Given the description of an element on the screen output the (x, y) to click on. 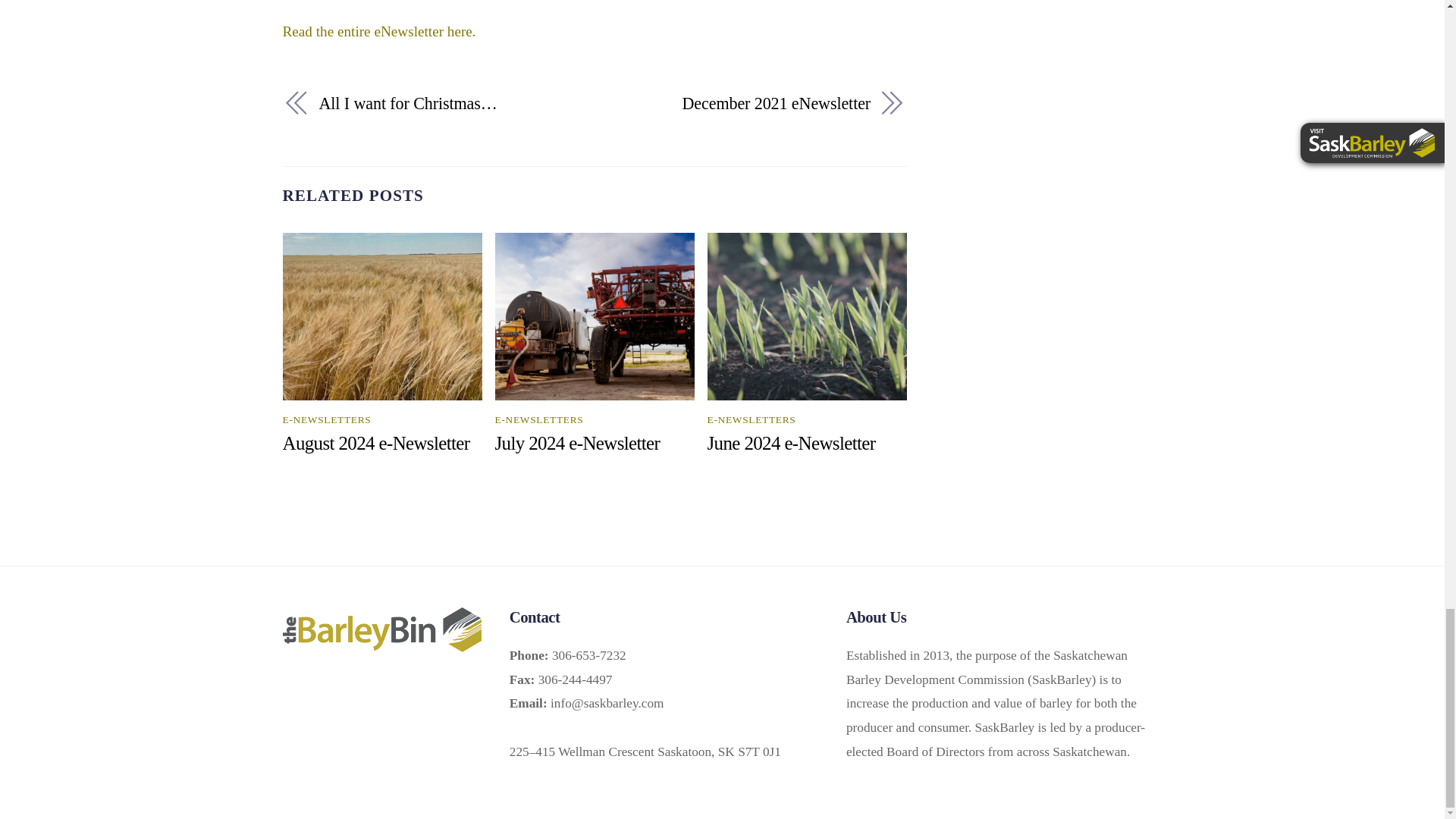
June 2024 e-Newsletter (791, 443)
August 2024 e-Newsletter (375, 443)
E-NEWSLETTERS (751, 419)
August 2024 e-Newsletter (375, 443)
The Barley Bin (381, 642)
E-NEWSLETTERS (539, 419)
July 2024 e-Newsletter (578, 443)
December 2021 eNewsletter (741, 103)
19 (807, 316)
July 2024 e-Newsletter (578, 443)
